Given the description of an element on the screen output the (x, y) to click on. 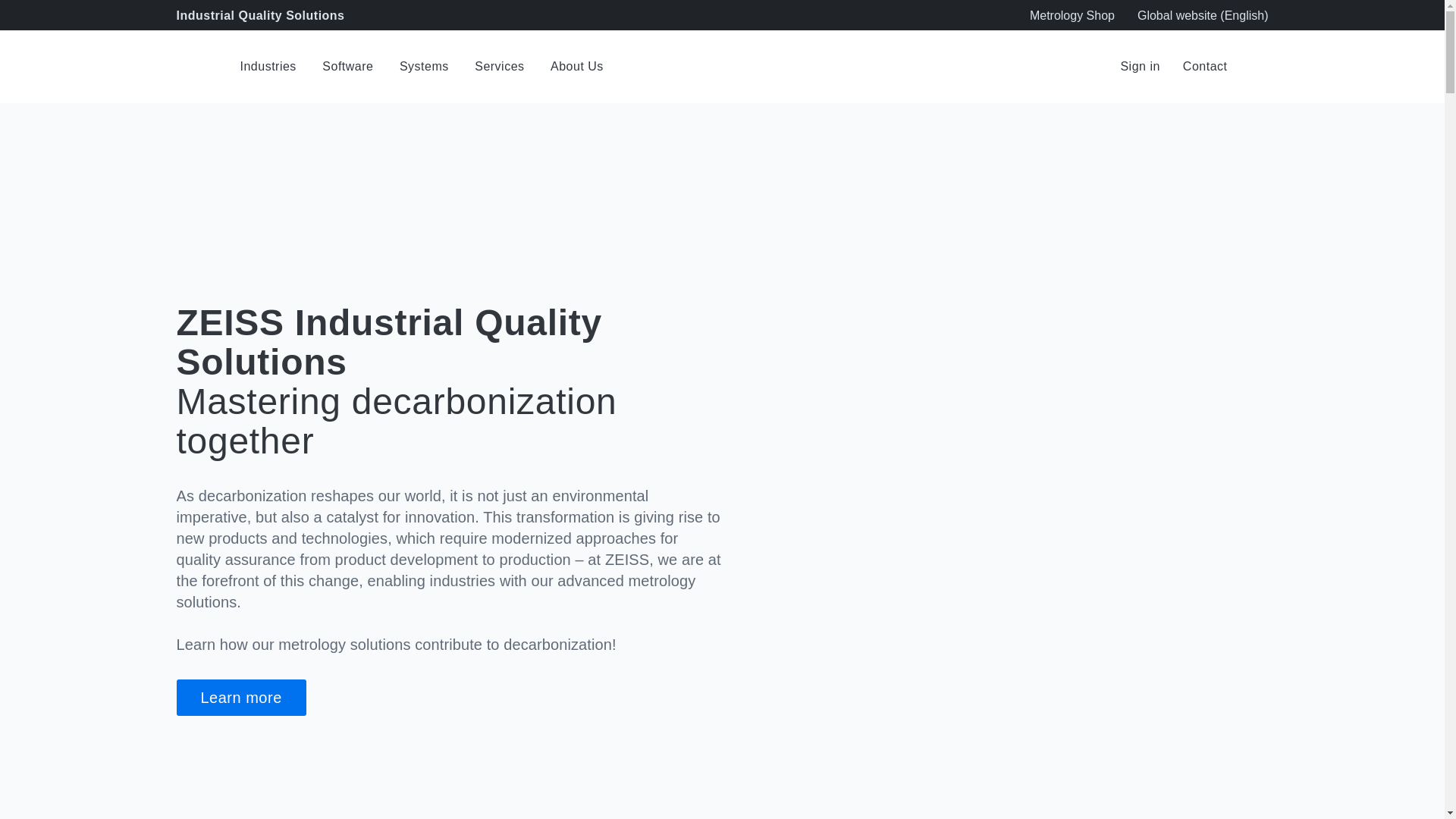
Metrology Shop (1072, 15)
About Us (577, 66)
Industrial Quality Solutions (194, 66)
Systems (423, 66)
Software (346, 66)
Industries (267, 66)
Metrology Shop (1072, 15)
Country Switch (1202, 15)
Services (499, 66)
